Given the description of an element on the screen output the (x, y) to click on. 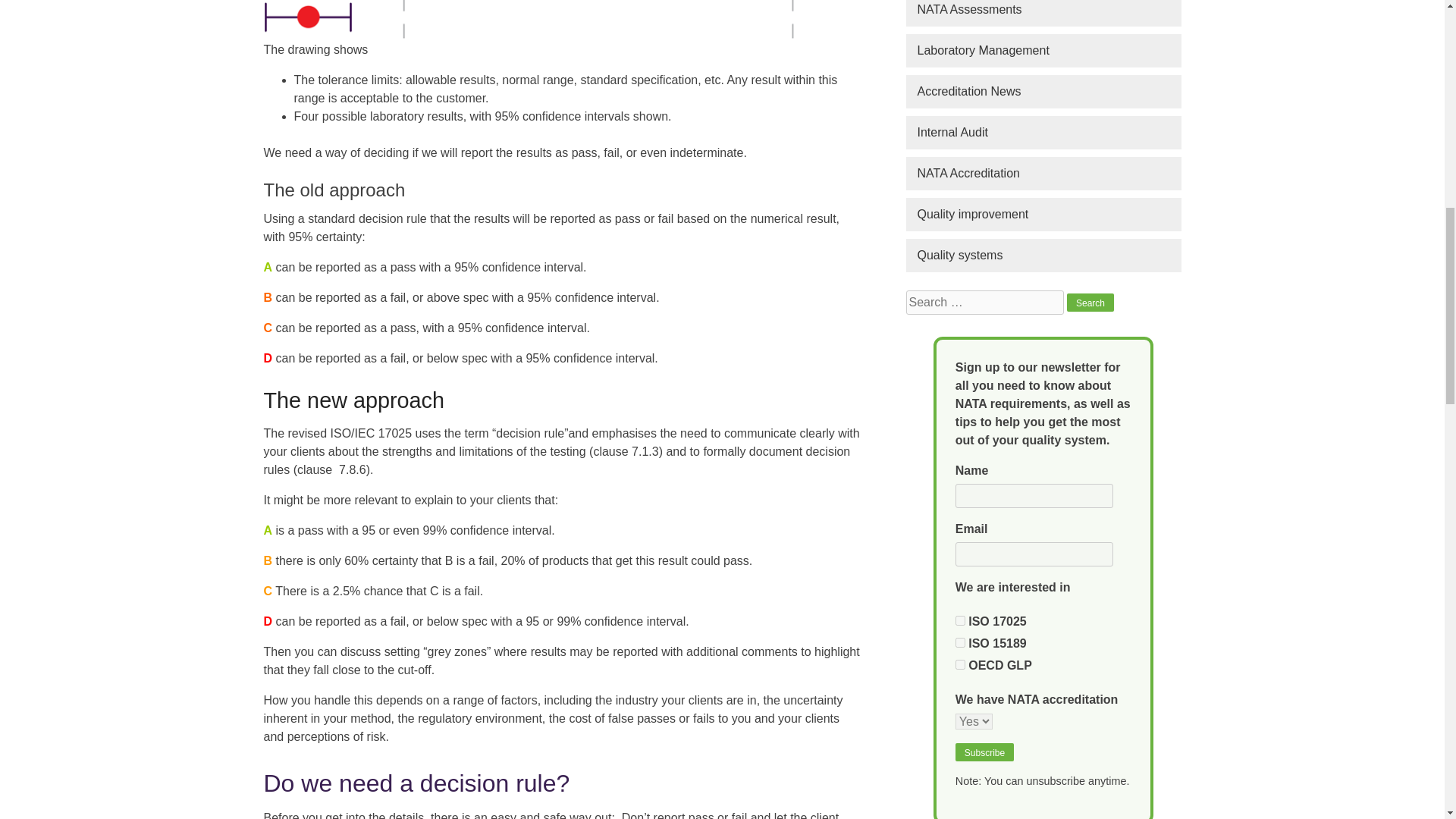
14737435 (960, 664)
14737433 (960, 620)
14737434 (960, 642)
Search (1090, 302)
Search (1090, 302)
